Given the description of an element on the screen output the (x, y) to click on. 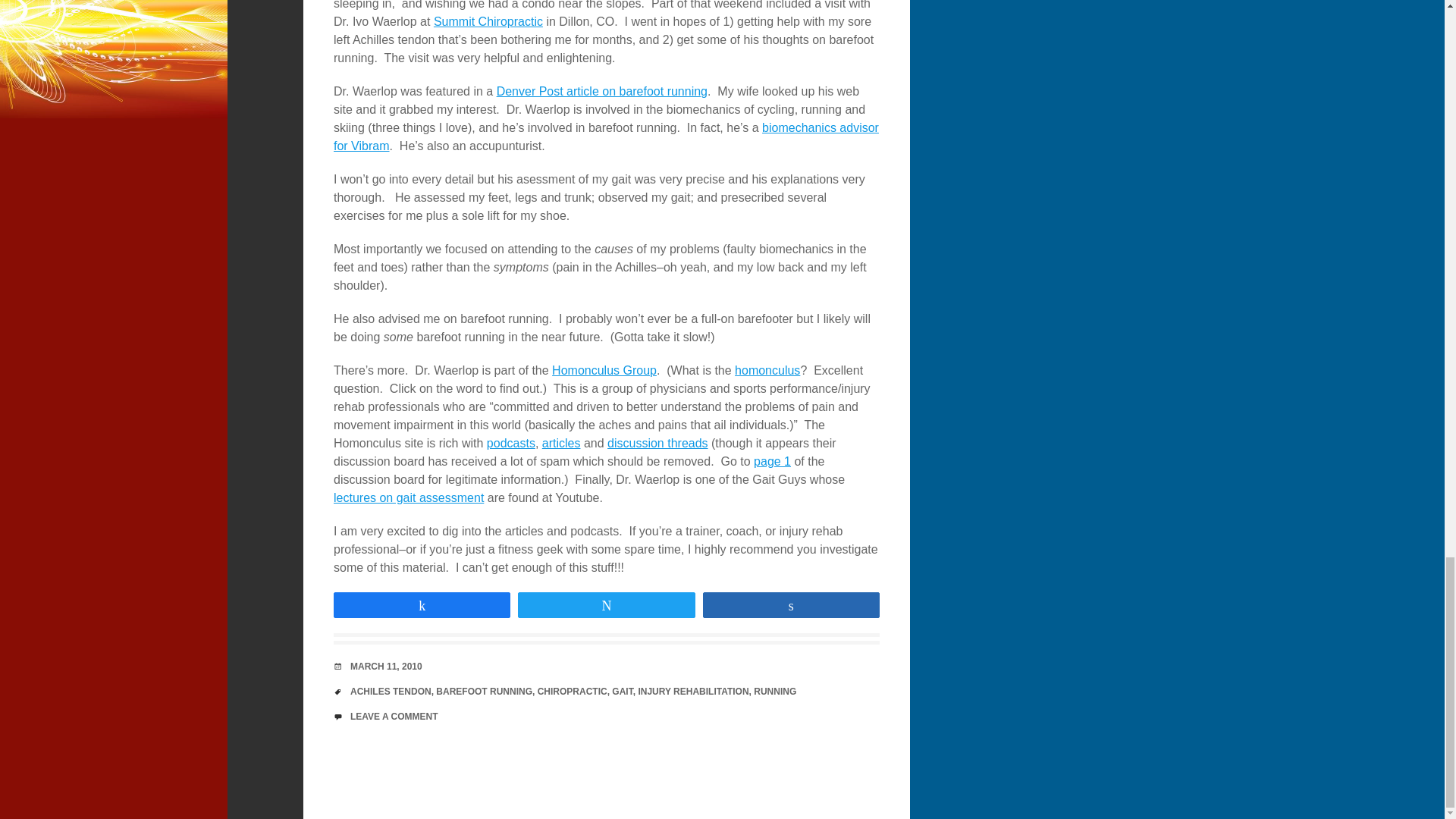
4:41 pm (386, 665)
